Given the description of an element on the screen output the (x, y) to click on. 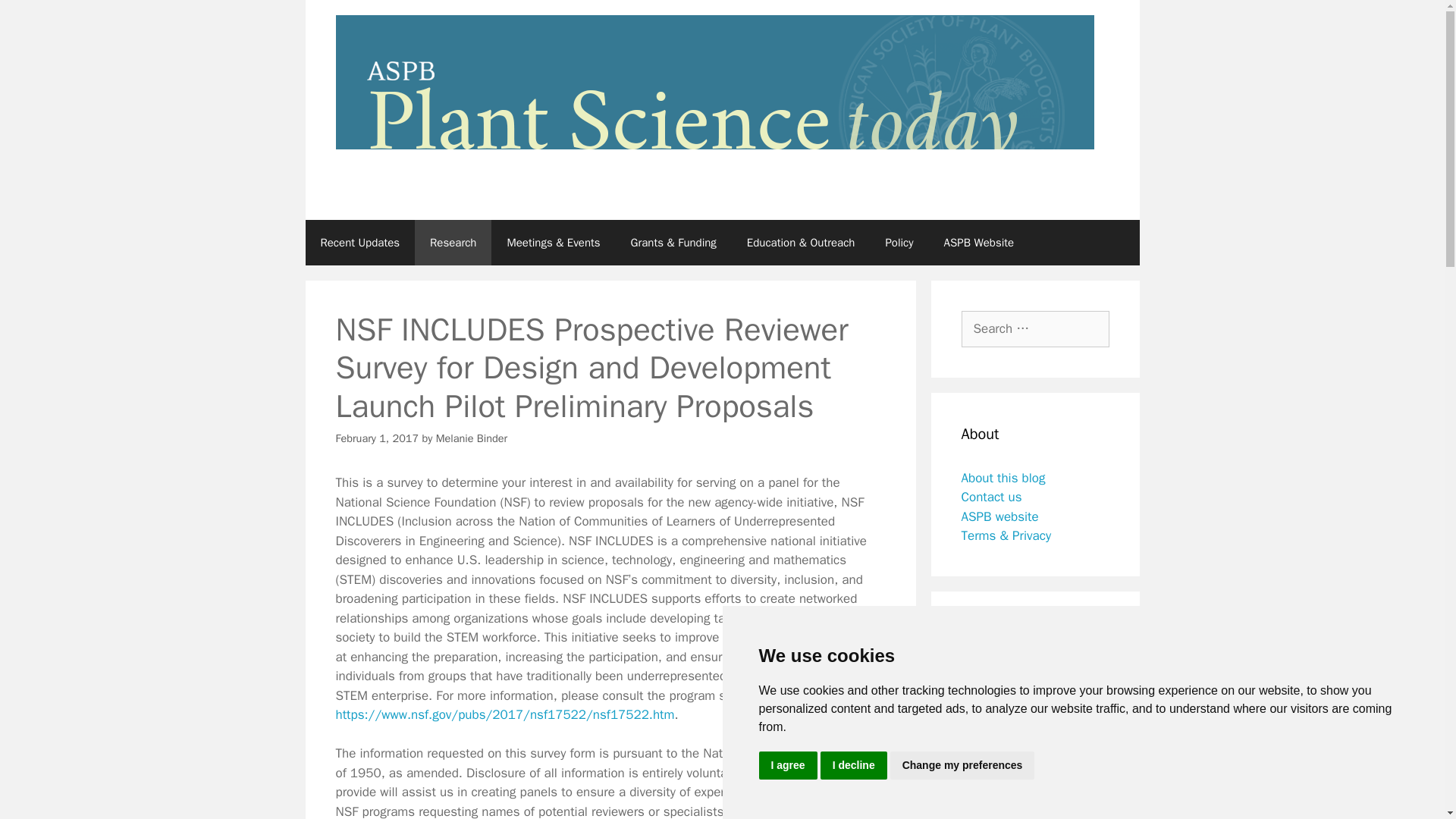
View all posts by Melanie Binder (471, 438)
About this blog (1002, 478)
Contact us (991, 496)
Research (453, 242)
I decline (853, 765)
Policy (898, 242)
Melanie Binder (471, 438)
Change my preferences (962, 765)
Search (35, 18)
Search for: (1034, 329)
Recent Updates (359, 242)
ASPB Website (978, 242)
I agree (787, 765)
ASPB website (999, 515)
